Given the description of an element on the screen output the (x, y) to click on. 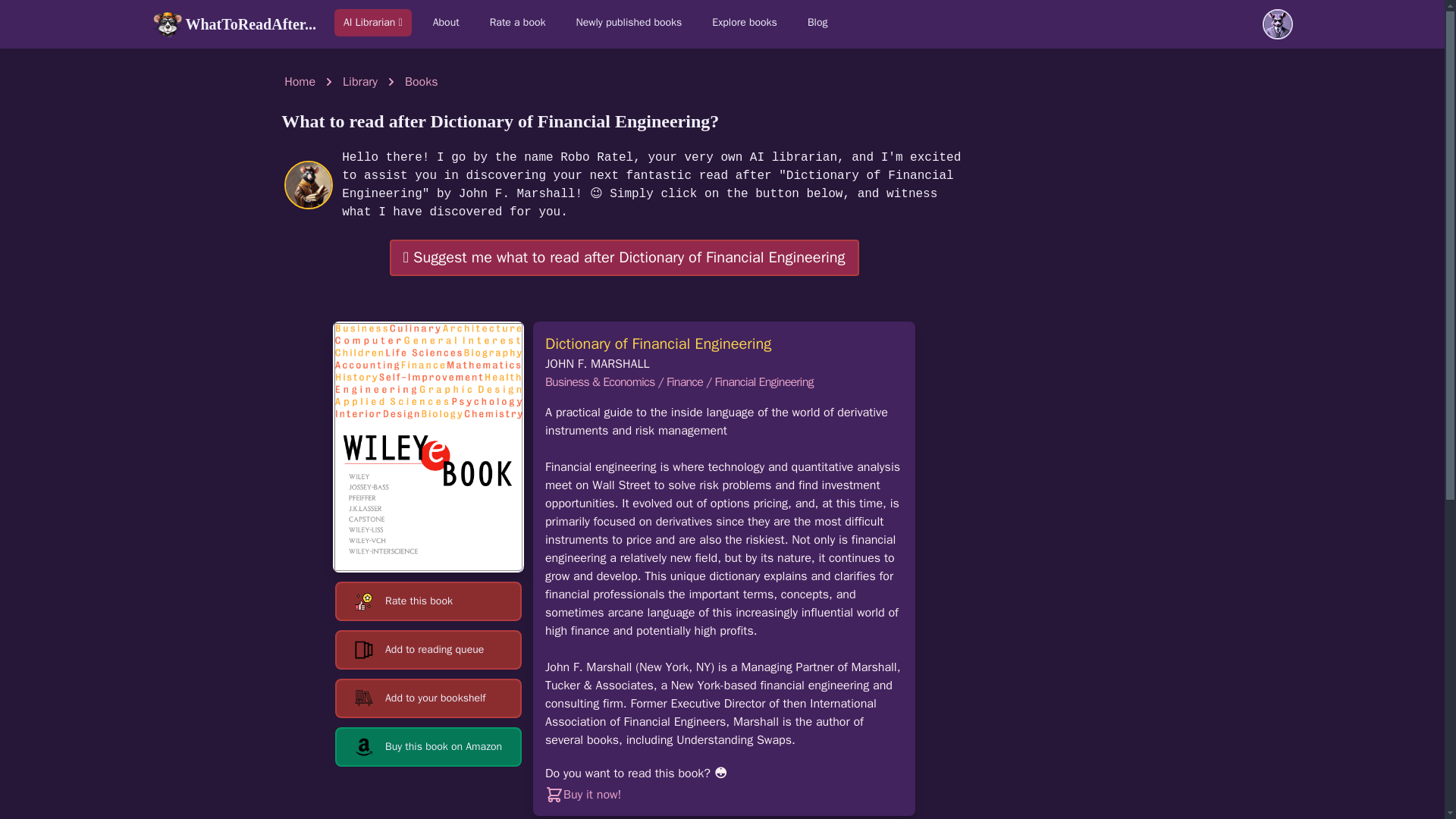
Rate a book (517, 22)
About What To Read After (445, 22)
Open user menu (1277, 24)
Blog (817, 22)
Explore books (744, 22)
Rate this book (427, 600)
Newly published books (629, 22)
Home (299, 81)
About (445, 22)
Explore books (744, 22)
Add this book to reading queue (427, 649)
WhatToReadAfter... (233, 24)
Books (421, 81)
Library (359, 81)
Add to reading queue (427, 649)
